Given the description of an element on the screen output the (x, y) to click on. 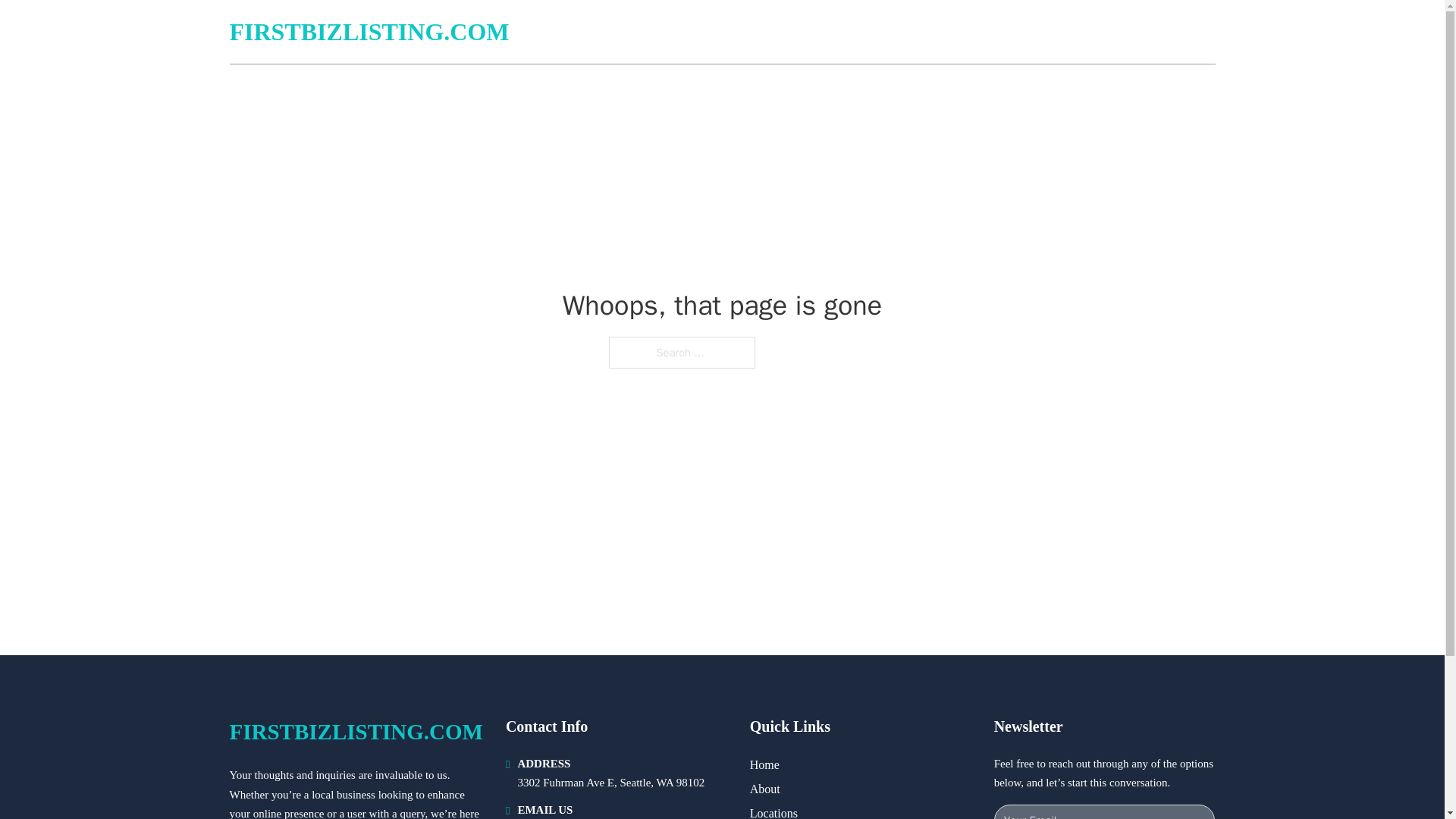
Locations (773, 811)
Home (763, 764)
HOME (1032, 31)
LOCATIONS (1105, 31)
FIRSTBIZLISTING.COM (354, 732)
About (764, 788)
FIRSTBIZLISTING.COM (368, 31)
